Given the description of an element on the screen output the (x, y) to click on. 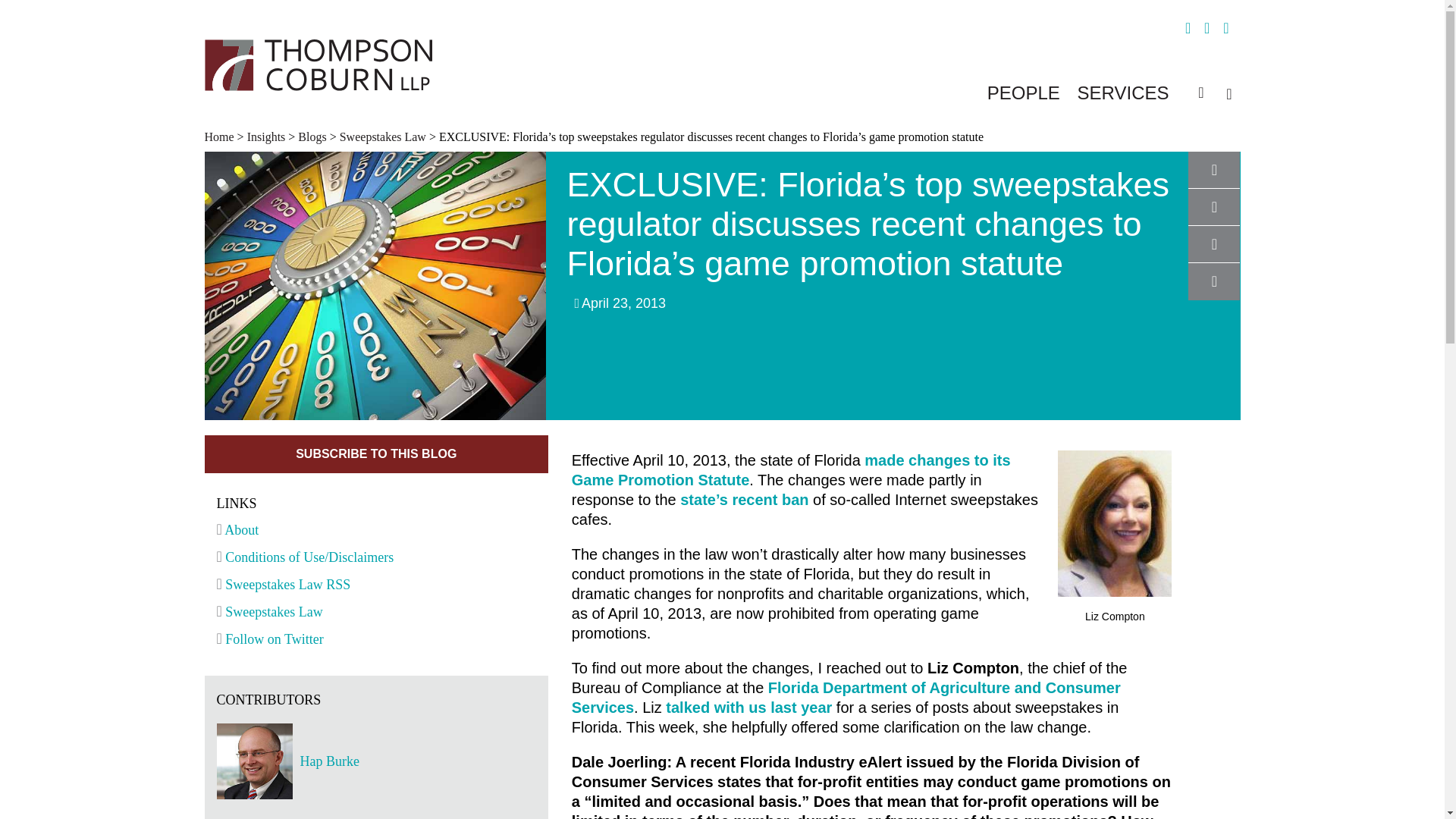
PEOPLE (1023, 92)
Hap Burke (416, 761)
Subscribe to this blog (376, 453)
Home (221, 136)
SERVICES (1123, 92)
About (237, 529)
Subscribe to this blog (376, 453)
Insights (266, 136)
Blogs (312, 136)
Follow on Twitter (269, 639)
Sweepstakes Law RSS (283, 584)
Sweepstakes Law (269, 611)
Sweepstakes Law (382, 136)
